Given the description of an element on the screen output the (x, y) to click on. 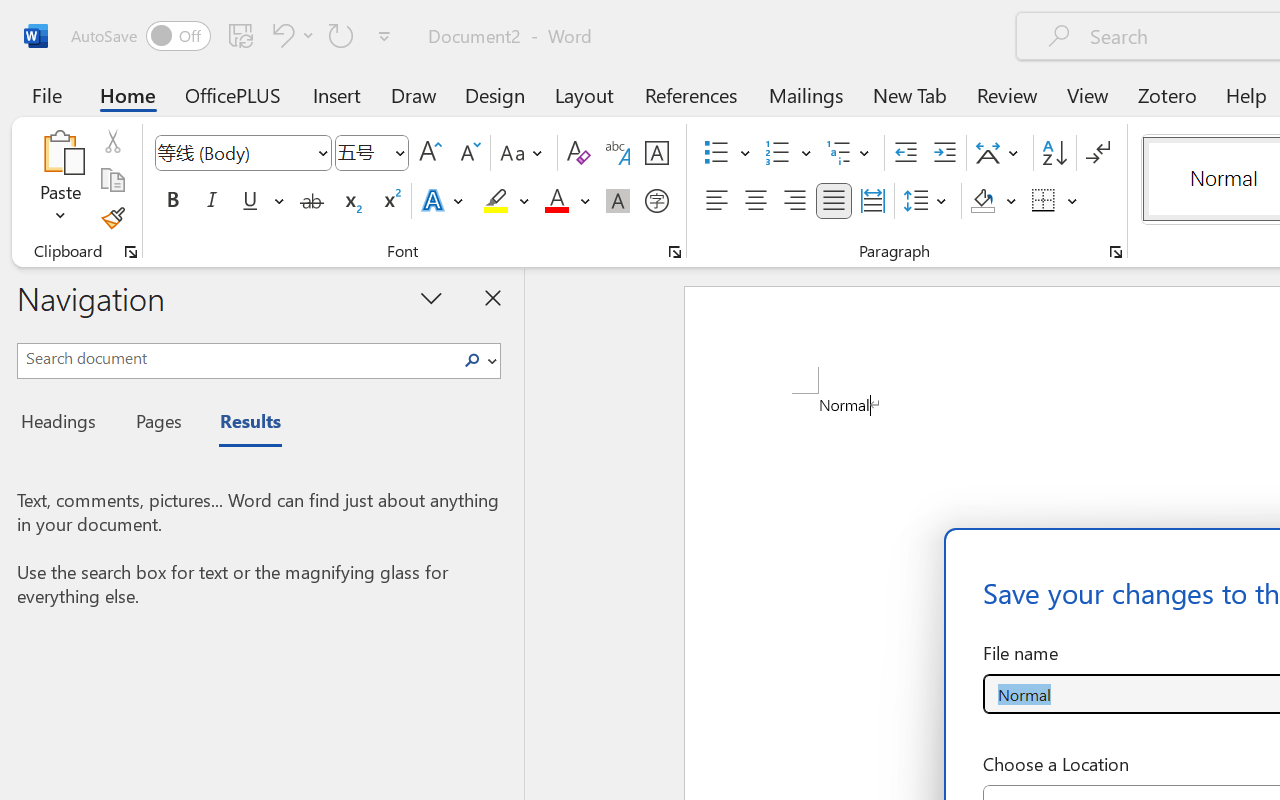
File Tab (46, 94)
Open (399, 152)
Search (478, 360)
Insert (337, 94)
Sort... (1054, 153)
Headings (64, 424)
Home (127, 94)
Decrease Indent (906, 153)
Asian Layout (1000, 153)
Character Shading (618, 201)
Text Highlight Color Yellow (495, 201)
Numbering (778, 153)
Shrink Font (468, 153)
Show/Hide Editing Marks (1098, 153)
Design (495, 94)
